Given the description of an element on the screen output the (x, y) to click on. 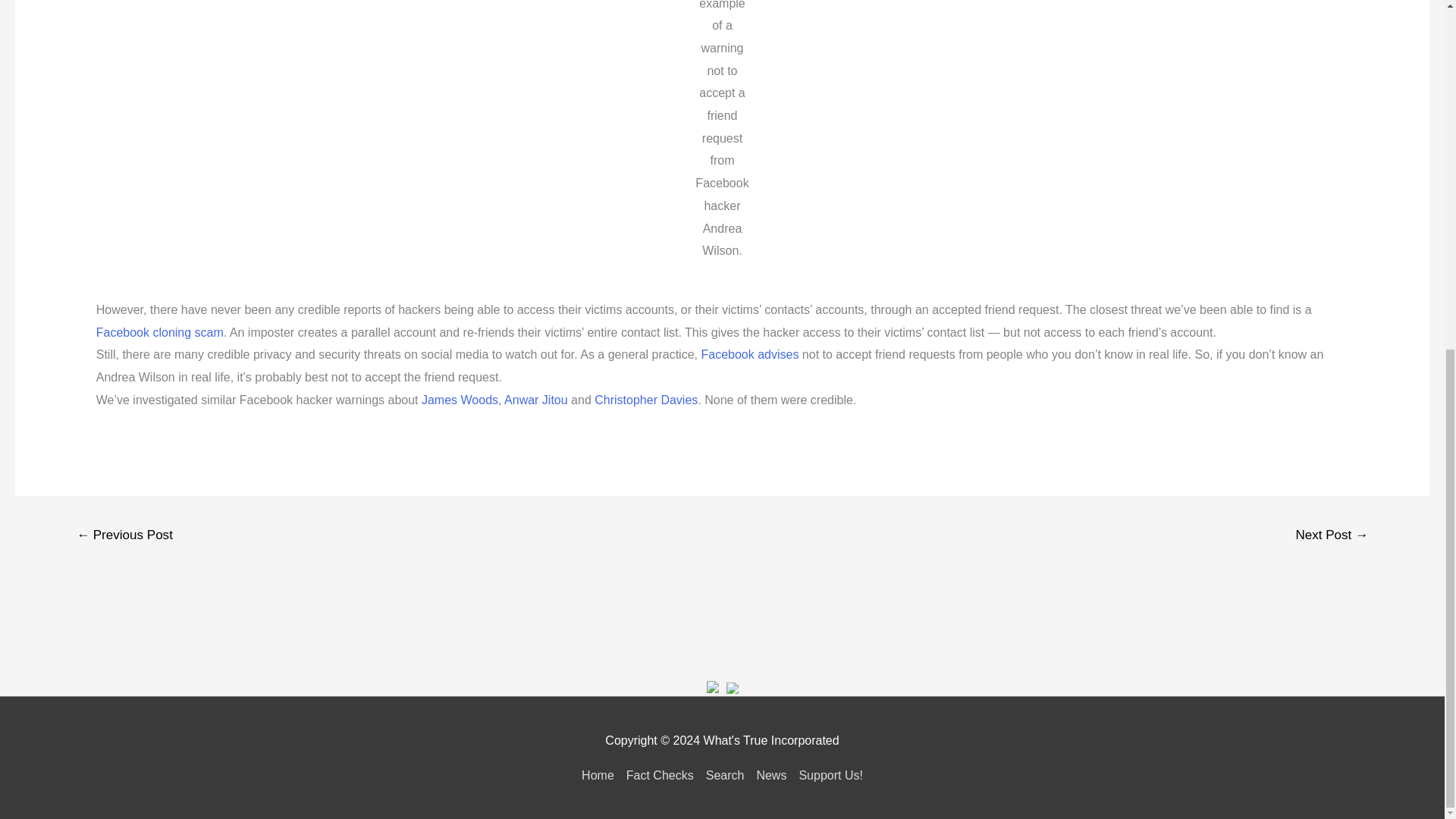
Facebook advises (748, 354)
Search (725, 775)
Support Us! (826, 775)
News (770, 775)
Facebook cloning scam (160, 332)
Christopher Davies (645, 399)
James Woods (459, 399)
Anwar Jitou (535, 399)
Home (600, 775)
Fact Checks (660, 775)
